Given the description of an element on the screen output the (x, y) to click on. 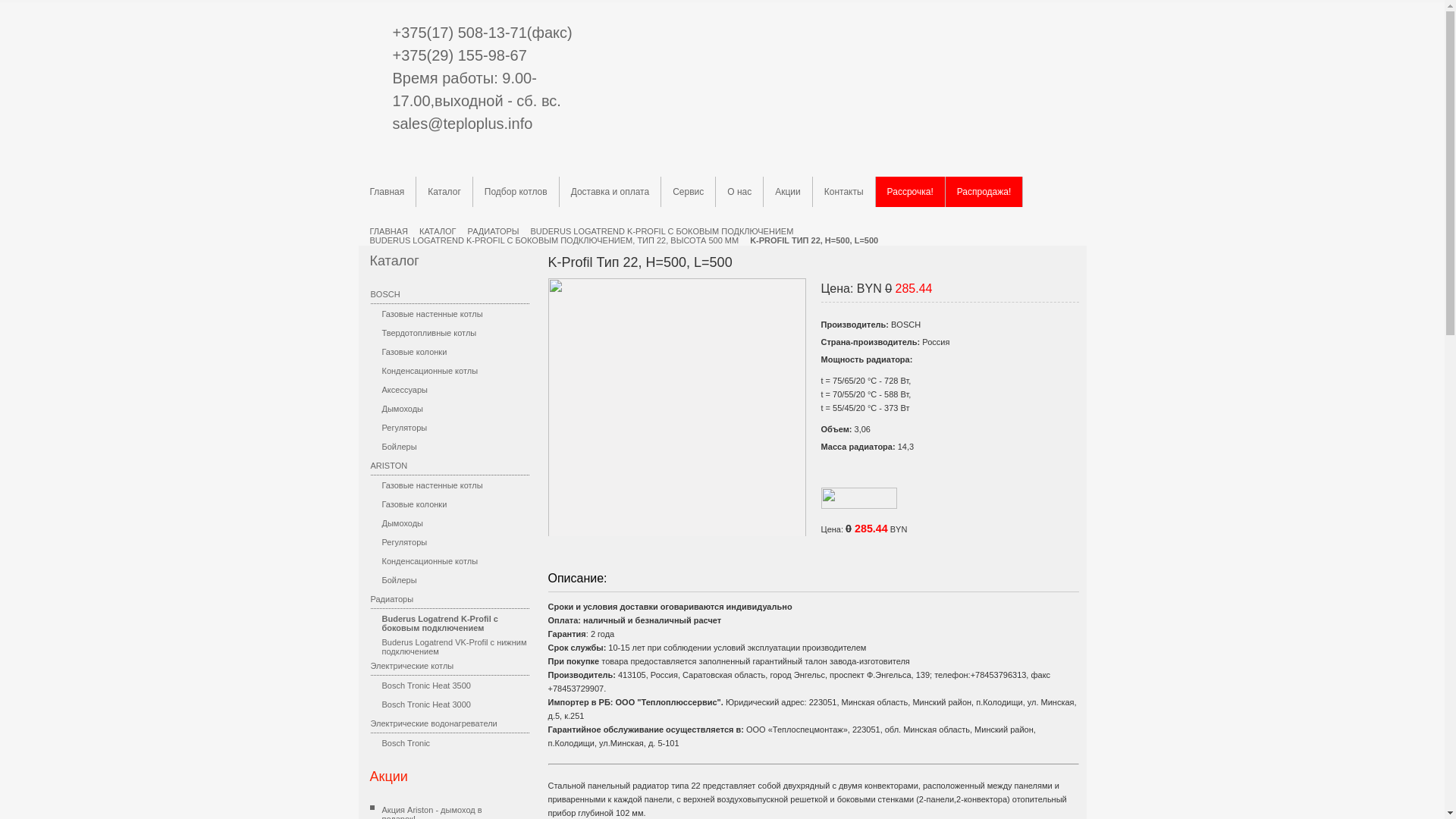
Bosch Tronic Element type: text (449, 742)
Bosch Tronic Heat 3500 Element type: text (449, 684)
ARISTON Element type: text (449, 465)
BOSCH Element type: text (449, 294)
  Element type: text (676, 419)
sales@teploplus.info Element type: text (462, 123)
Bosch Tronic Heat 3000 Element type: text (449, 703)
